Given the description of an element on the screen output the (x, y) to click on. 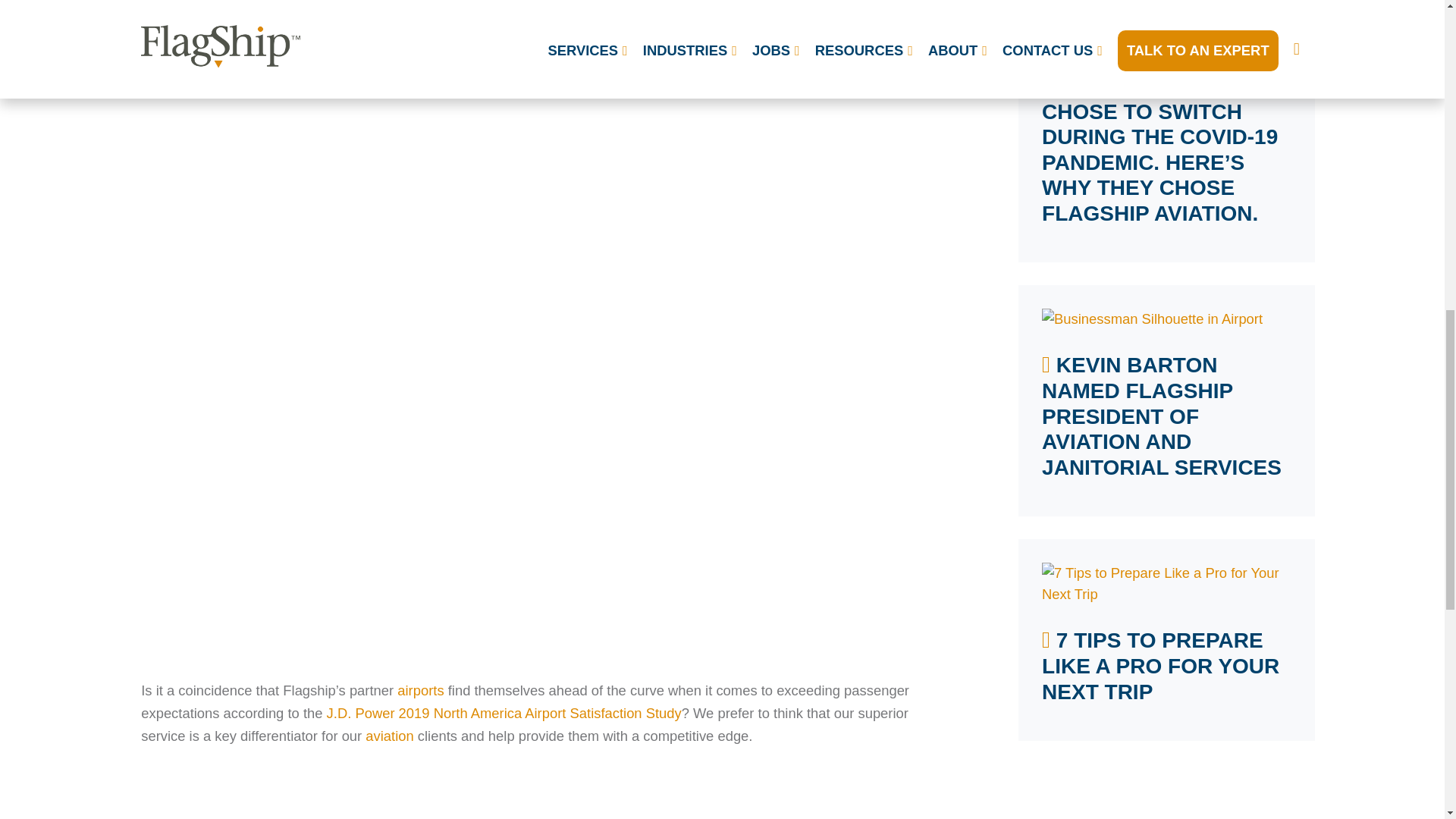
aviation (389, 735)
airports (420, 690)
J.D. Power 2019 Airport Satisfaction Study (503, 713)
